Given the description of an element on the screen output the (x, y) to click on. 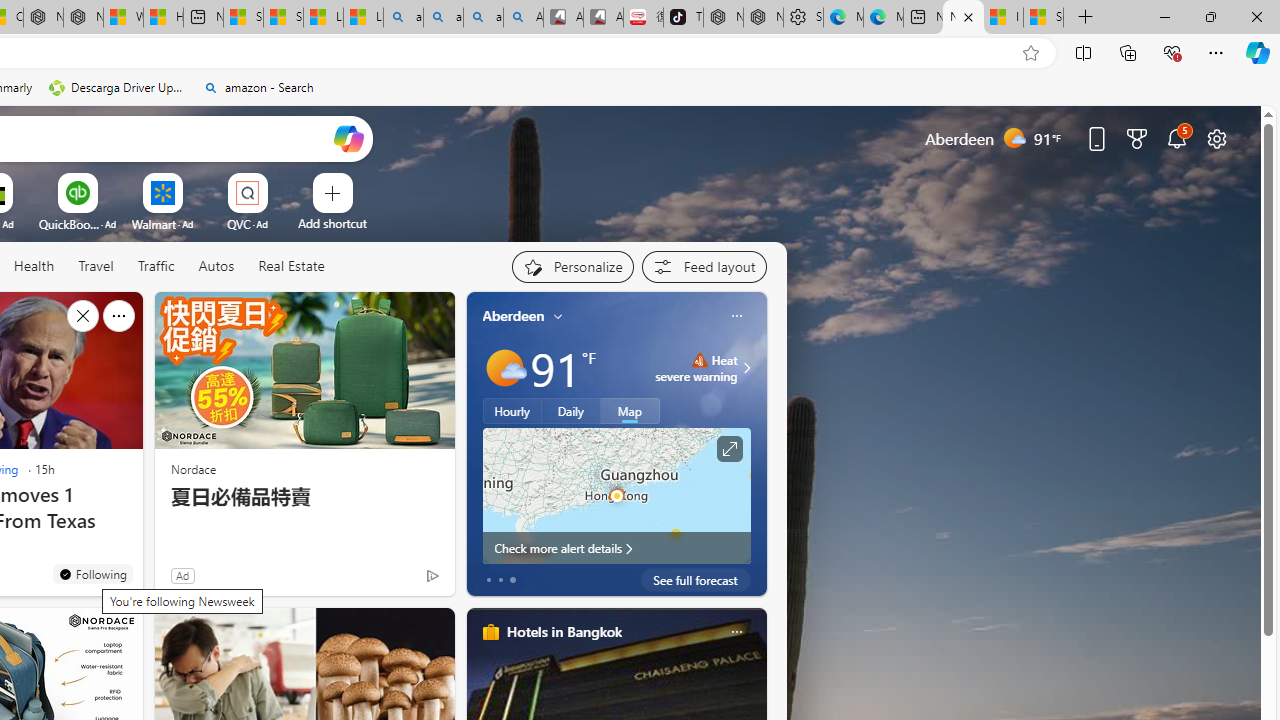
Class: weather-arrow-glyph (746, 367)
Hotels in Bangkok (563, 631)
Notifications (1176, 138)
Health (33, 267)
Traffic (155, 267)
You're following FOX News (390, 579)
Daily (571, 411)
Map (630, 411)
See full forecast (695, 579)
Mostly sunny (504, 368)
Wildlife - MSN (123, 17)
Hourly (511, 411)
hotels-header-icon (490, 632)
